Given the description of an element on the screen output the (x, y) to click on. 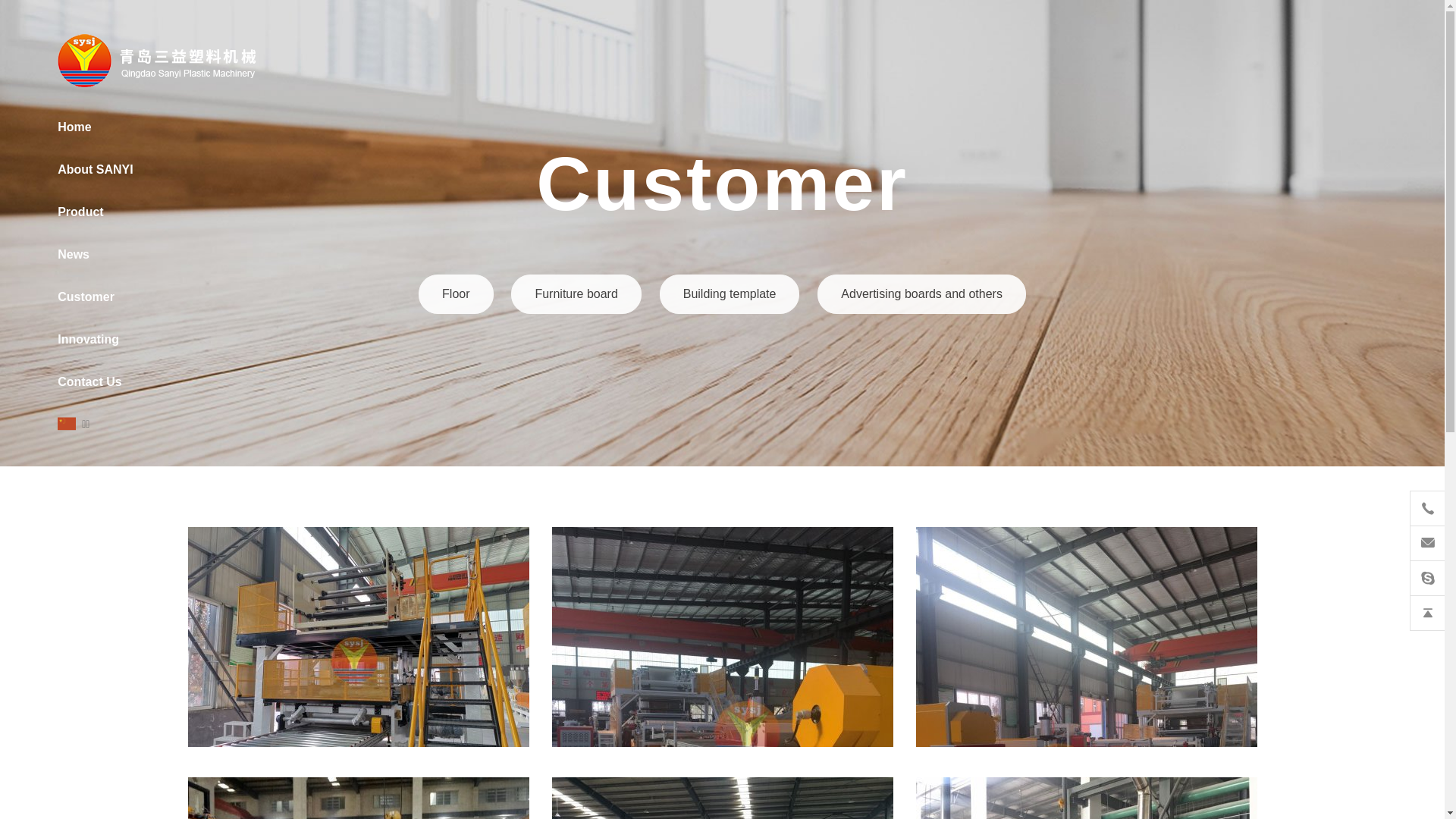
About SANYI Element type: text (100, 169)
Floor Element type: text (455, 293)
Product Element type: text (100, 212)
Customer Element type: text (100, 297)
Innovating Element type: text (100, 339)
Contact Us Element type: text (100, 381)
Advertising boards and others Element type: text (921, 293)
News Element type: text (100, 254)
Furniture board Element type: text (575, 293)
Building template Element type: text (729, 293)
Home Element type: text (100, 127)
